Given the description of an element on the screen output the (x, y) to click on. 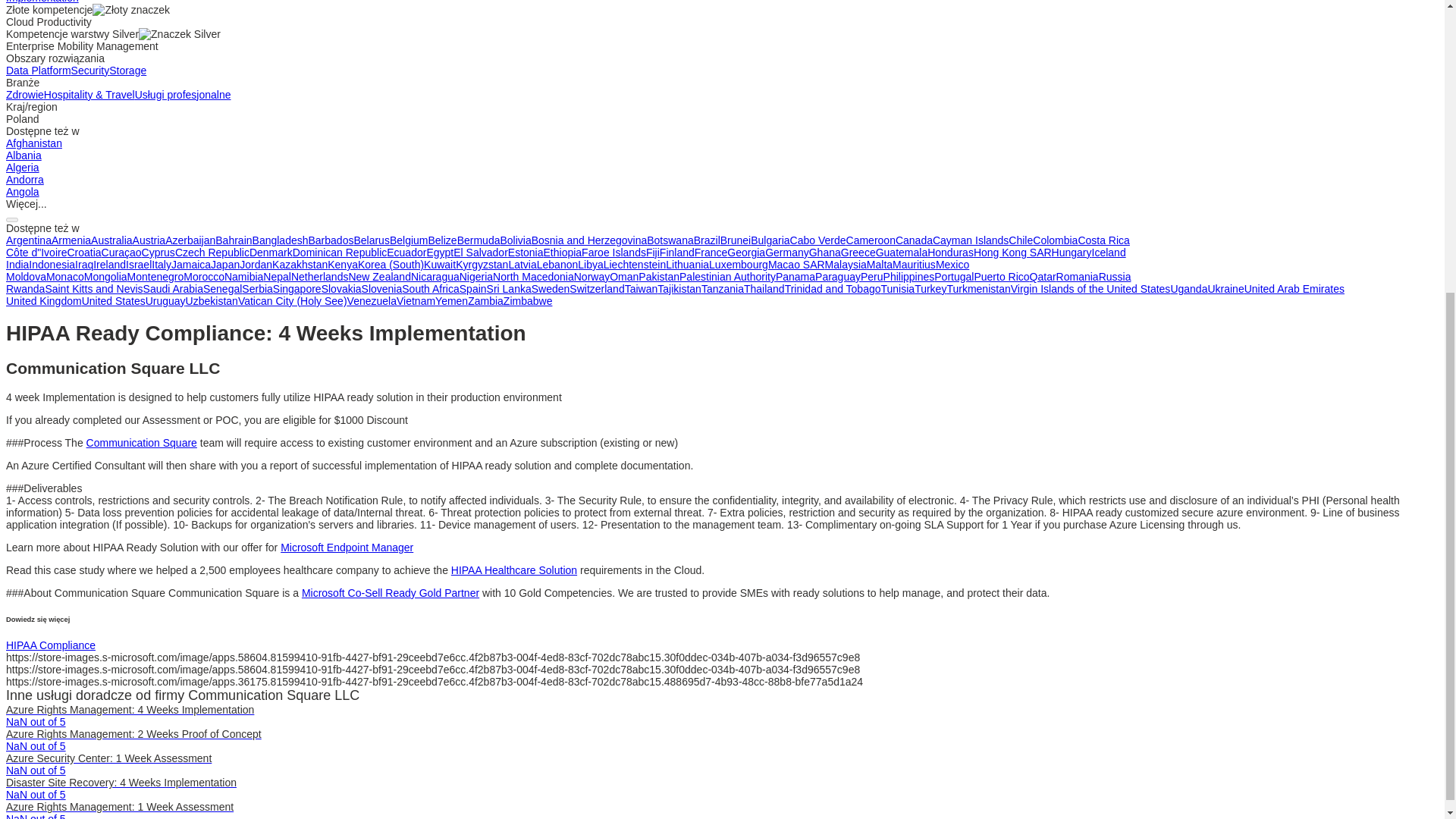
Security (90, 70)
Azure Rights Management: 1 Week Assessment (118, 806)
Azure Rights Management: 4 Weeks Implementation (129, 709)
Implementation (41, 2)
Disaster Site Recovery: 4 Weeks Implementation (120, 782)
Afghanistan (33, 143)
Storage (128, 70)
Azure Security Center: 1 Week Assessment (108, 758)
Australia (111, 240)
Argentina (27, 240)
Andorra (24, 179)
Data Platform (38, 70)
Azure Rights Management: 2 Weeks Proof of Concept (133, 734)
Austria (148, 240)
Algeria (22, 167)
